Given the description of an element on the screen output the (x, y) to click on. 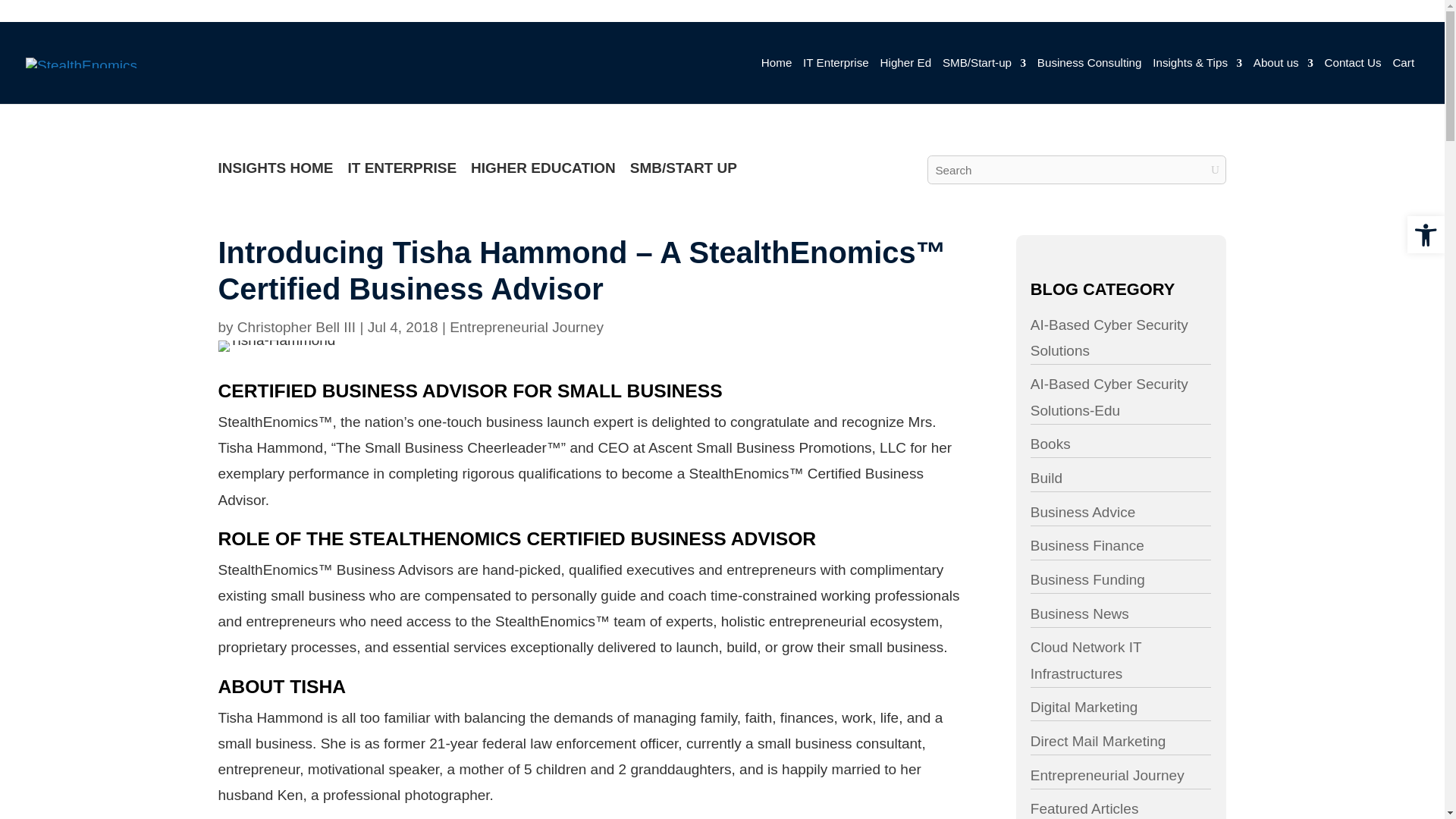
Contact Us (1423, 84)
About us (1350, 84)
Christopher Bell III (311, 343)
AI-Based Cyber Security Solutions (1167, 354)
IT ENTERPRISE (423, 176)
Entrepreneurial Journey (553, 343)
Business Consulting (1147, 84)
AI-Based Cyber Security Solutions-Edu (1167, 418)
IT Enterprise (879, 84)
Tisha-Hammond (291, 364)
Posts by Christopher Bell III (311, 343)
INSIGHTS HOME (290, 176)
Higher Ed (952, 84)
HIGHER EDUCATION (571, 176)
